Given the description of an element on the screen output the (x, y) to click on. 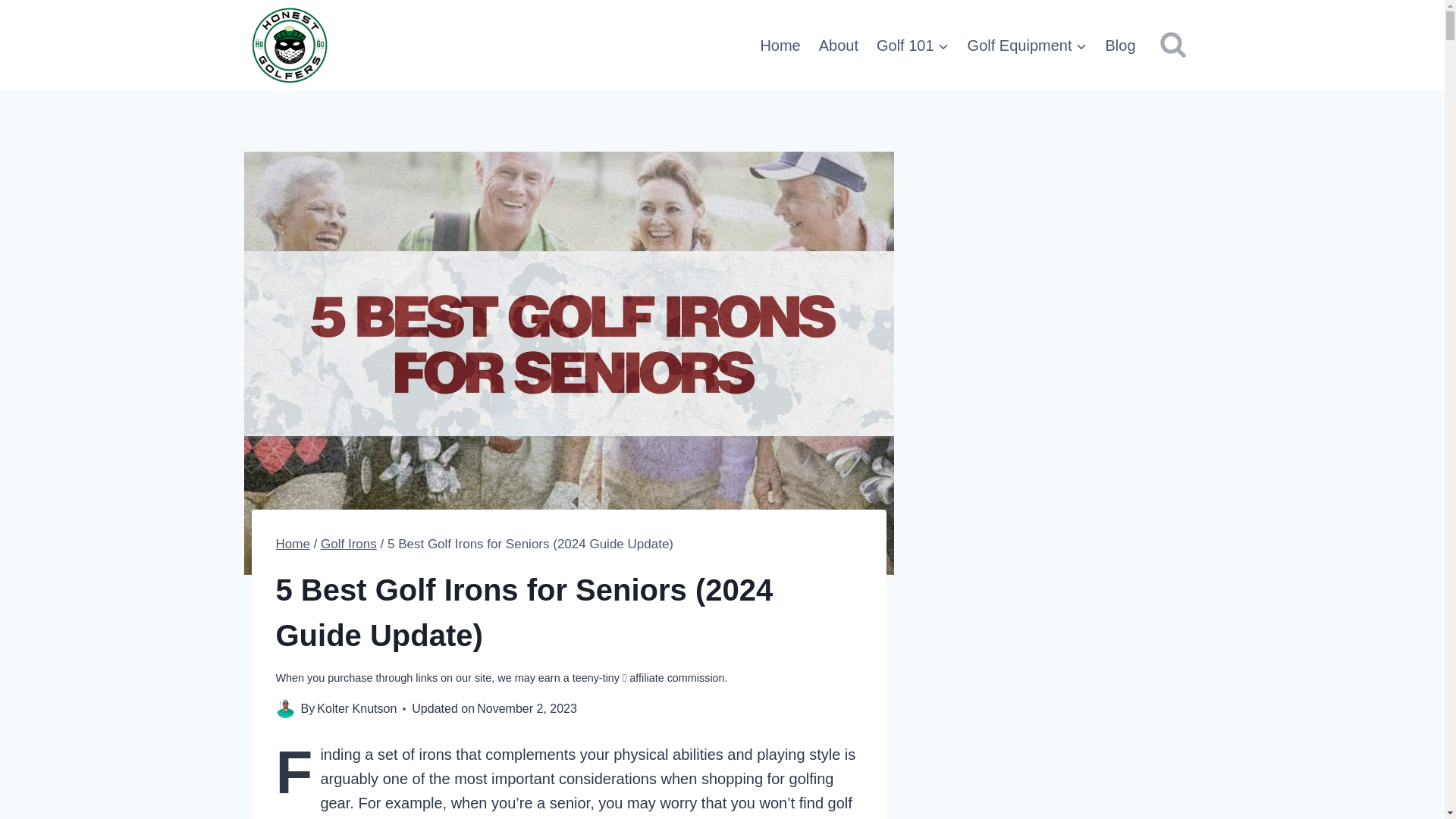
Golf 101 (912, 45)
About (838, 45)
Home (780, 45)
Blog (1120, 45)
Home (293, 544)
Golf Equipment (1027, 45)
Golf Irons (348, 544)
